Given the description of an element on the screen output the (x, y) to click on. 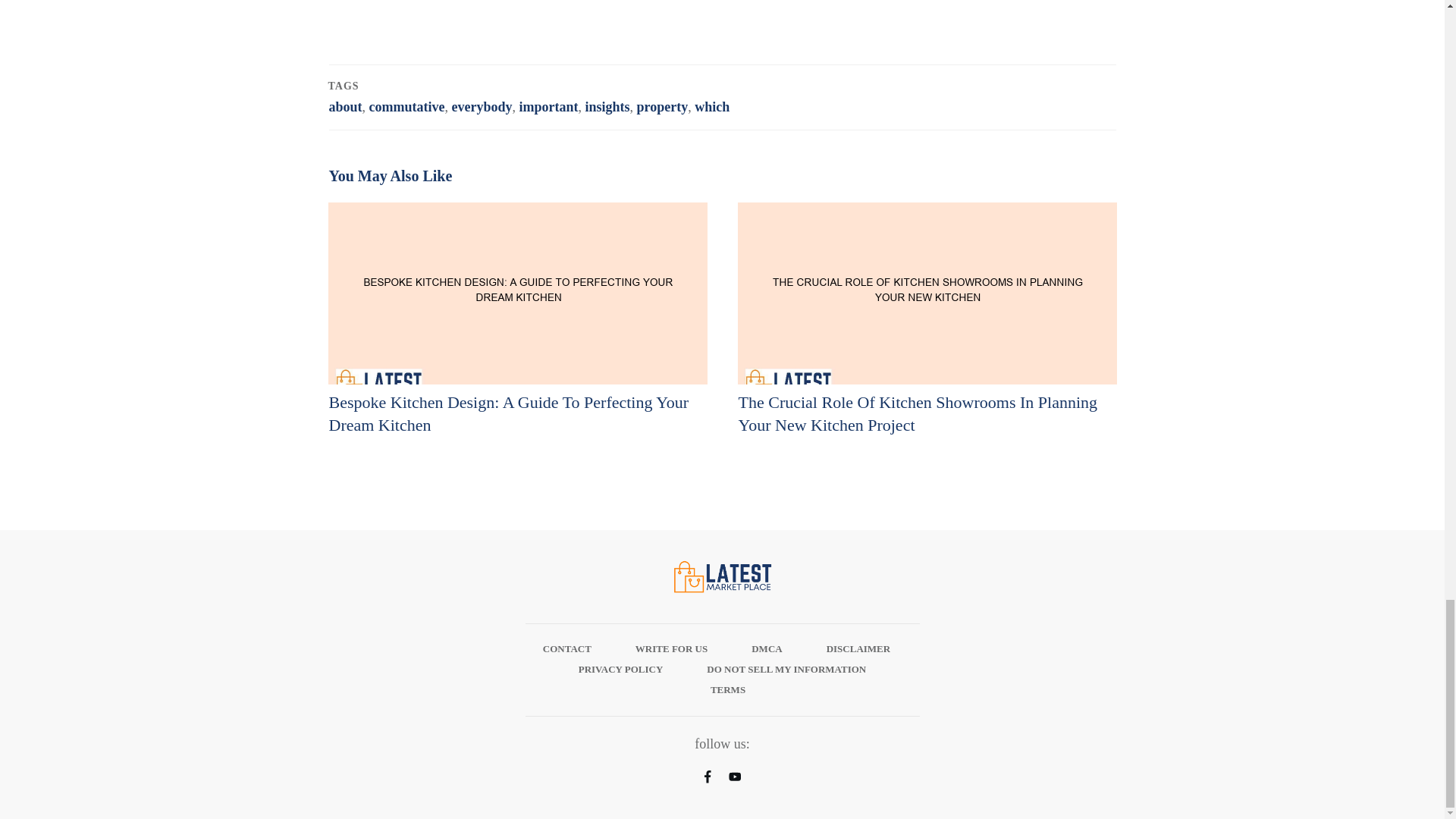
everybody (481, 106)
insights (606, 106)
important (548, 106)
commutative (407, 106)
property (662, 106)
commutative (407, 106)
about (345, 106)
everybody (481, 106)
about (345, 106)
important (548, 106)
property (662, 106)
which (711, 106)
